Given the description of an element on the screen output the (x, y) to click on. 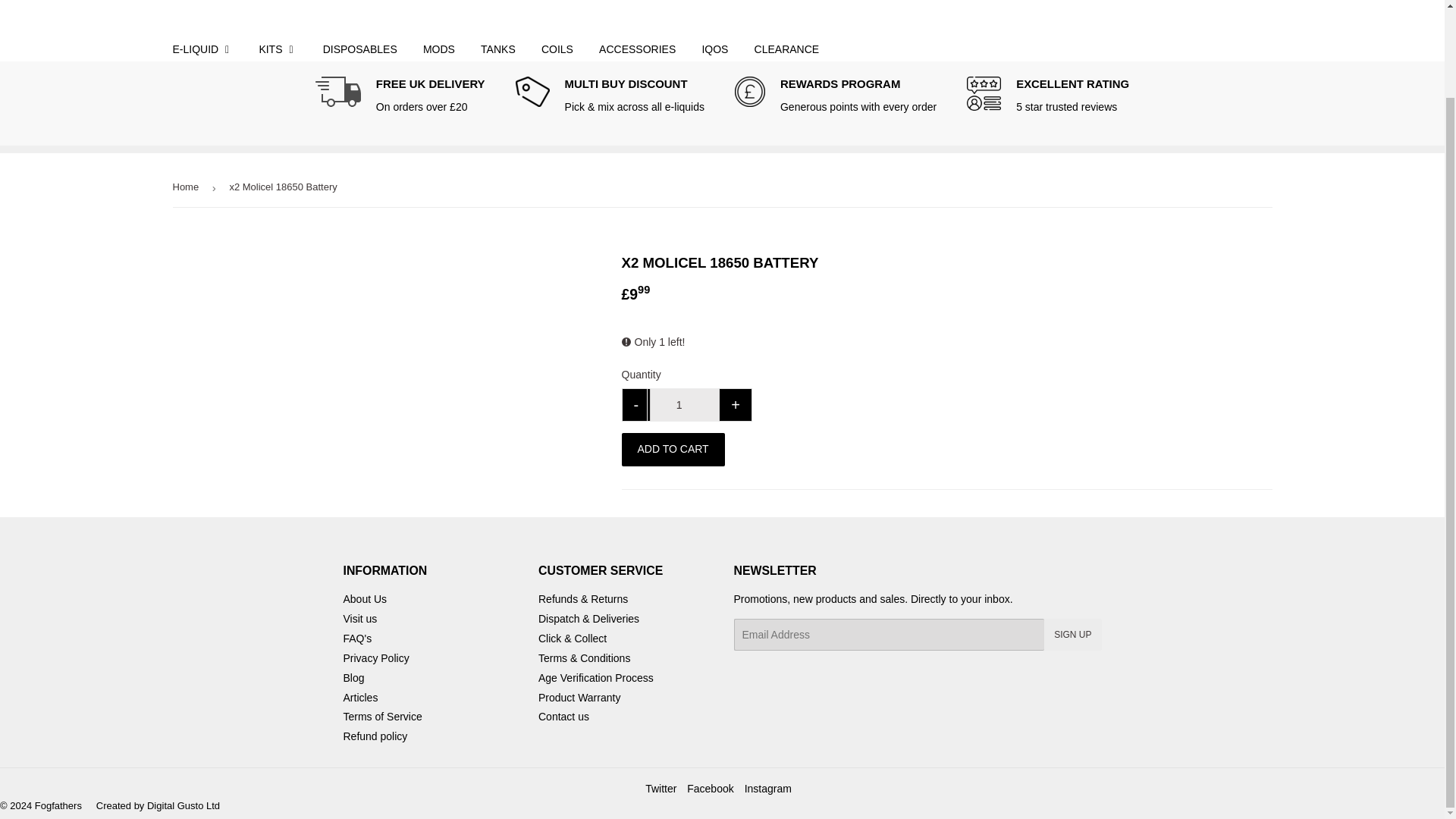
You have no items in your shopping cart. (1189, 4)
Fogfathers on Twitter (661, 788)
1 (684, 404)
Fogfathers on Facebook (710, 788)
Fogfathers (255, 18)
Fogfathers on Instagram (768, 788)
